Given the description of an element on the screen output the (x, y) to click on. 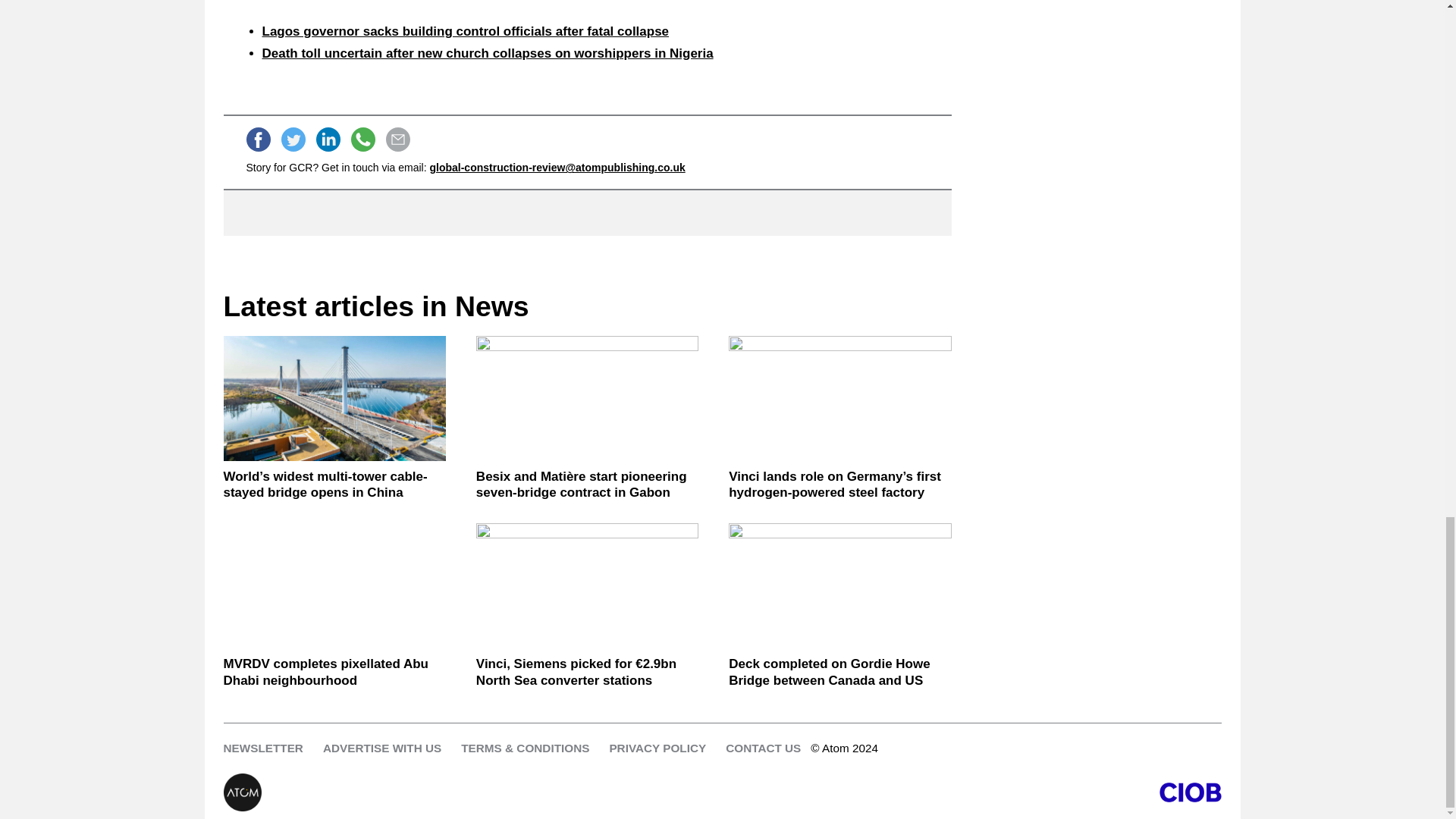
Send email (397, 139)
Tweet (292, 139)
Share on WhatsApp (362, 139)
Share on Facebook (257, 139)
Share on LinkedIn (327, 139)
